Given the description of an element on the screen output the (x, y) to click on. 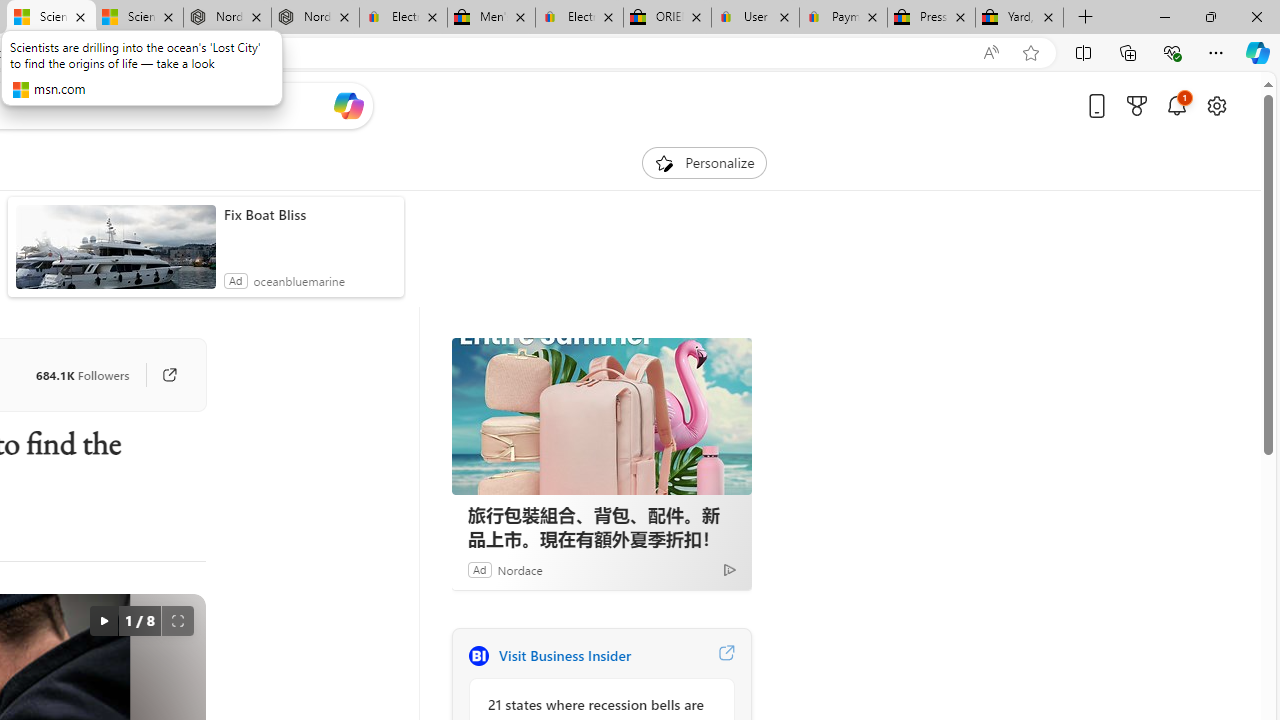
autorotate button (103, 620)
Go to publisher's site (159, 374)
Fix Boat Bliss (308, 214)
Press Room - eBay Inc. (931, 17)
Nordace - FAQ (315, 17)
